Given the description of an element on the screen output the (x, y) to click on. 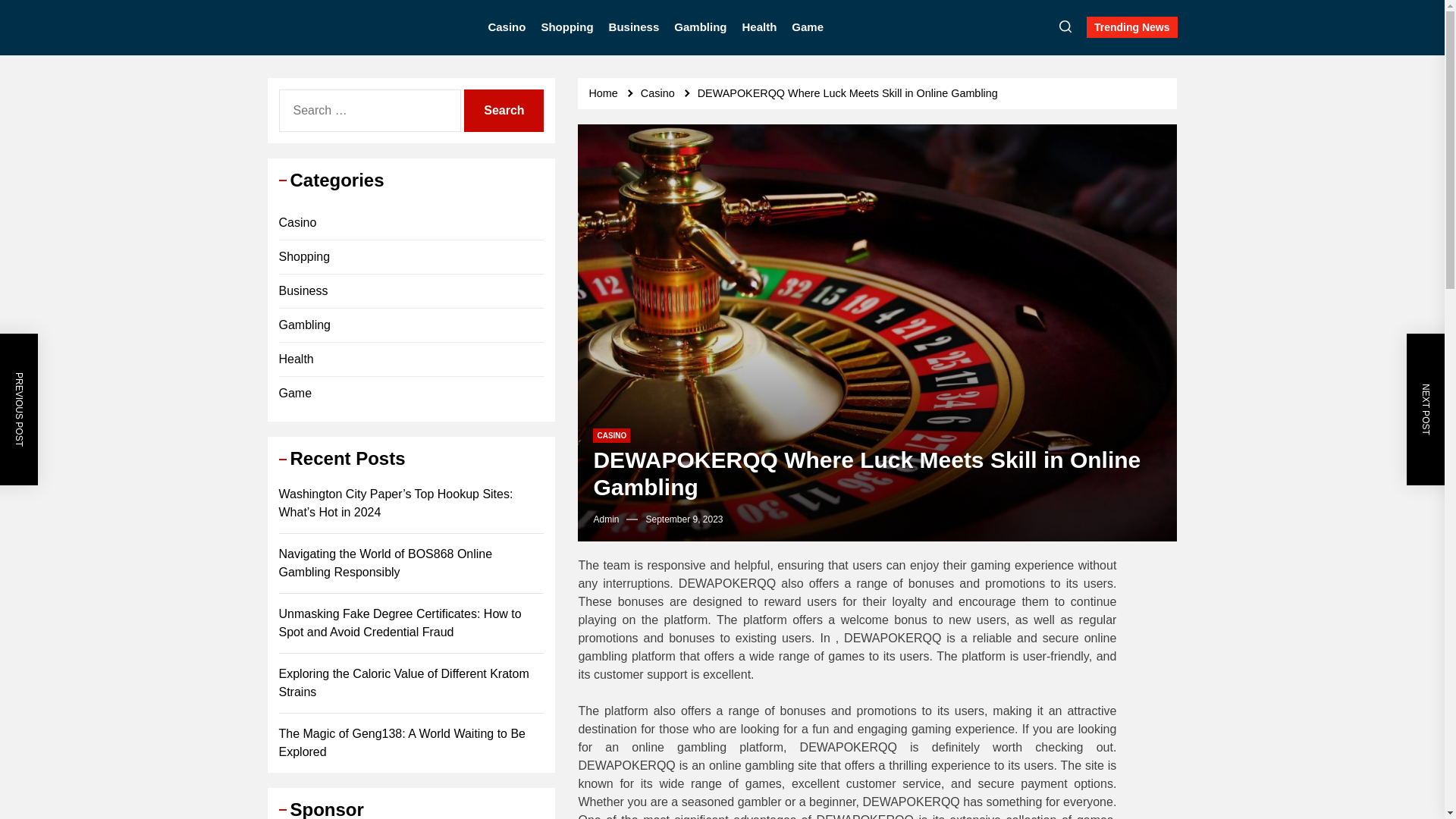
Shopping (566, 27)
Search (503, 110)
Gambling (700, 27)
Business (633, 27)
Search (503, 110)
Trending News (1131, 26)
Casino (506, 27)
